Given the description of an element on the screen output the (x, y) to click on. 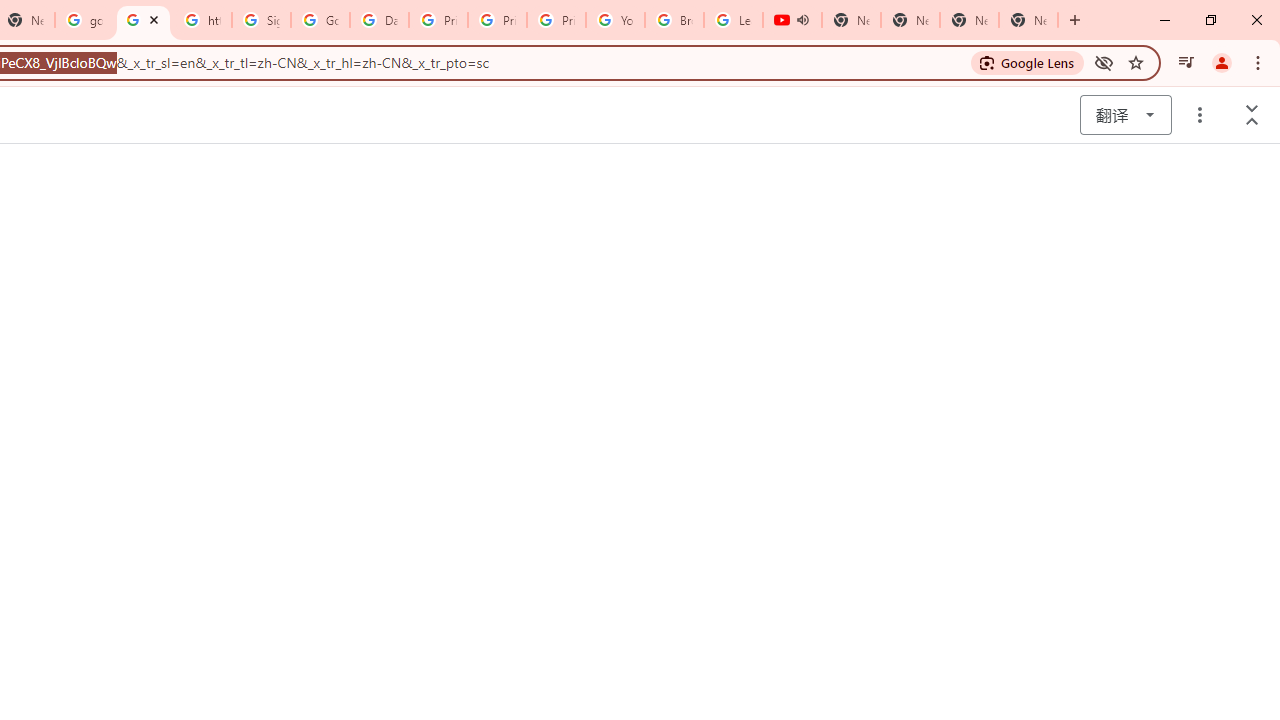
Privacy Help Center - Policies Help (438, 20)
Search with Google Lens (1027, 62)
Privacy Help Center - Policies Help (497, 20)
https://scholar.google.com/ (142, 20)
YouTube (615, 20)
